Given the description of an element on the screen output the (x, y) to click on. 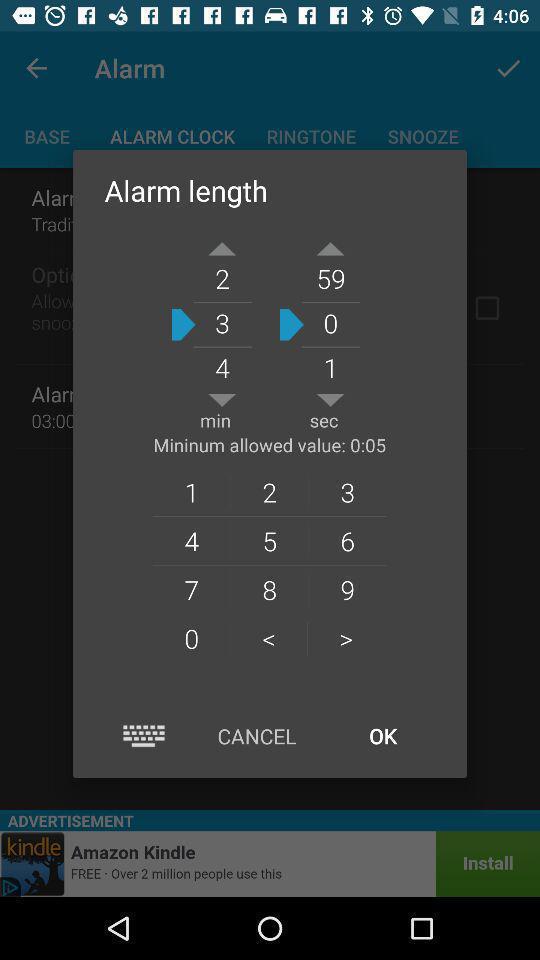
use keyboard (143, 735)
